Given the description of an element on the screen output the (x, y) to click on. 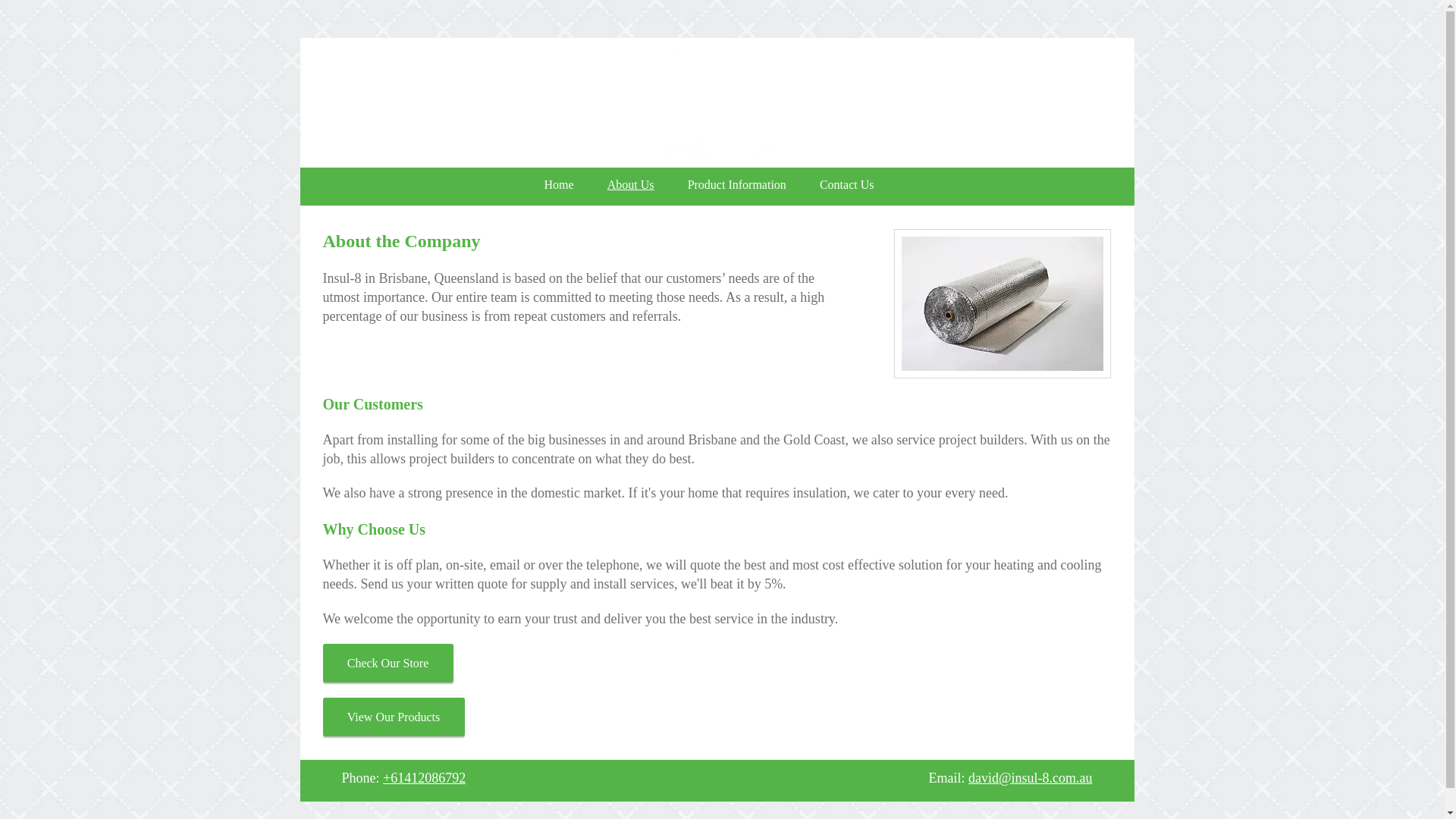
Home Element type: text (558, 184)
+61412086792 Element type: text (423, 777)
Contact Us Element type: text (847, 184)
Check Our Store Element type: text (388, 662)
david@insul-8.com.au Element type: text (1030, 777)
About Us Element type: text (630, 184)
Product Information Element type: text (737, 184)
View Our Products Element type: text (393, 716)
